Given the description of an element on the screen output the (x, y) to click on. 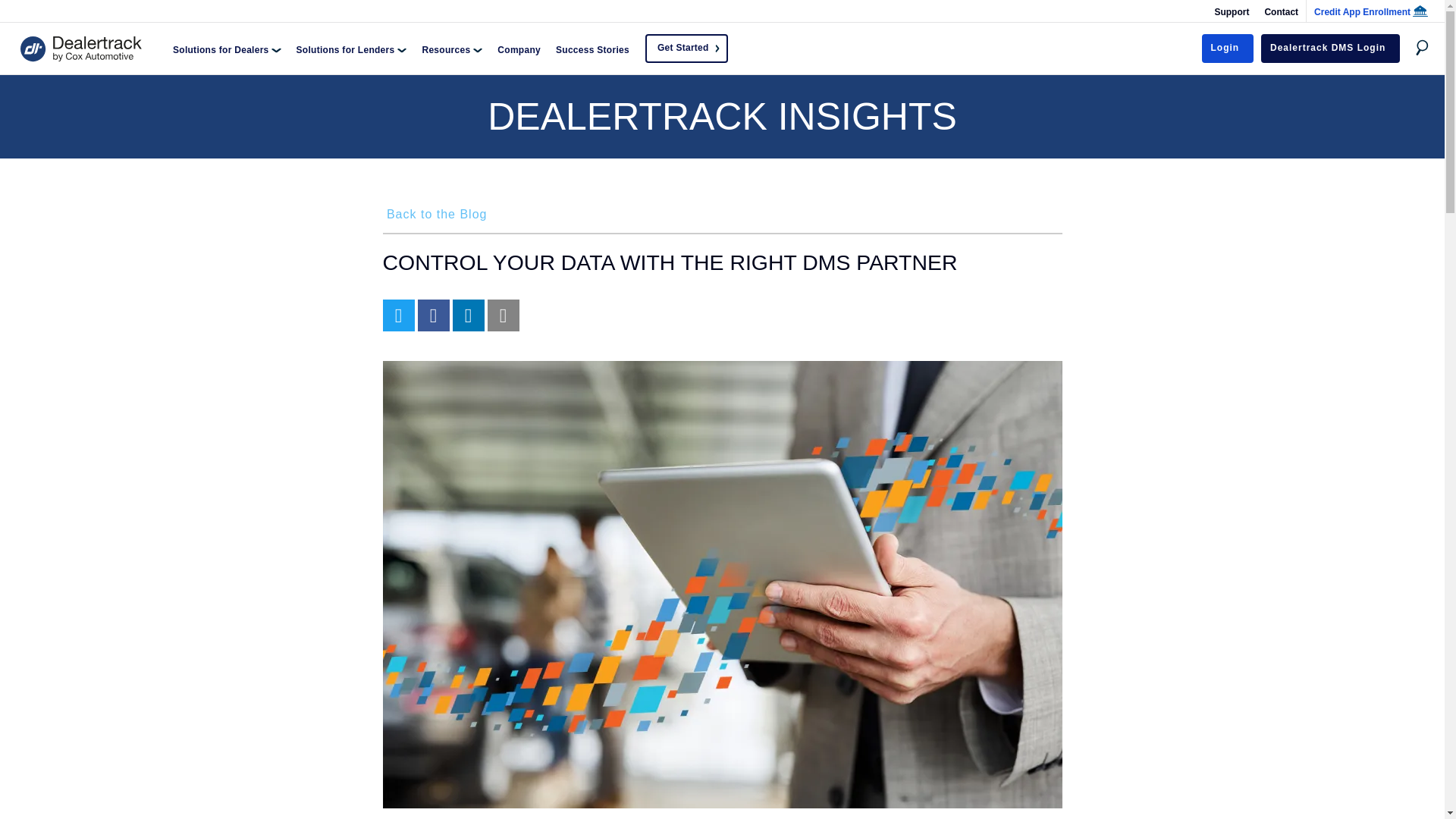
Search (926, 22)
Contact (1281, 11)
Solutions for Dealers (226, 47)
Solutions for Lenders (351, 47)
Credit App Enrollment (1367, 11)
Click to email a link to a friend (502, 315)
Click to share on Twitter (397, 315)
Click to share on Facebook (432, 315)
Support (1231, 11)
Click to share on LinkedIn (467, 315)
